Given the description of an element on the screen output the (x, y) to click on. 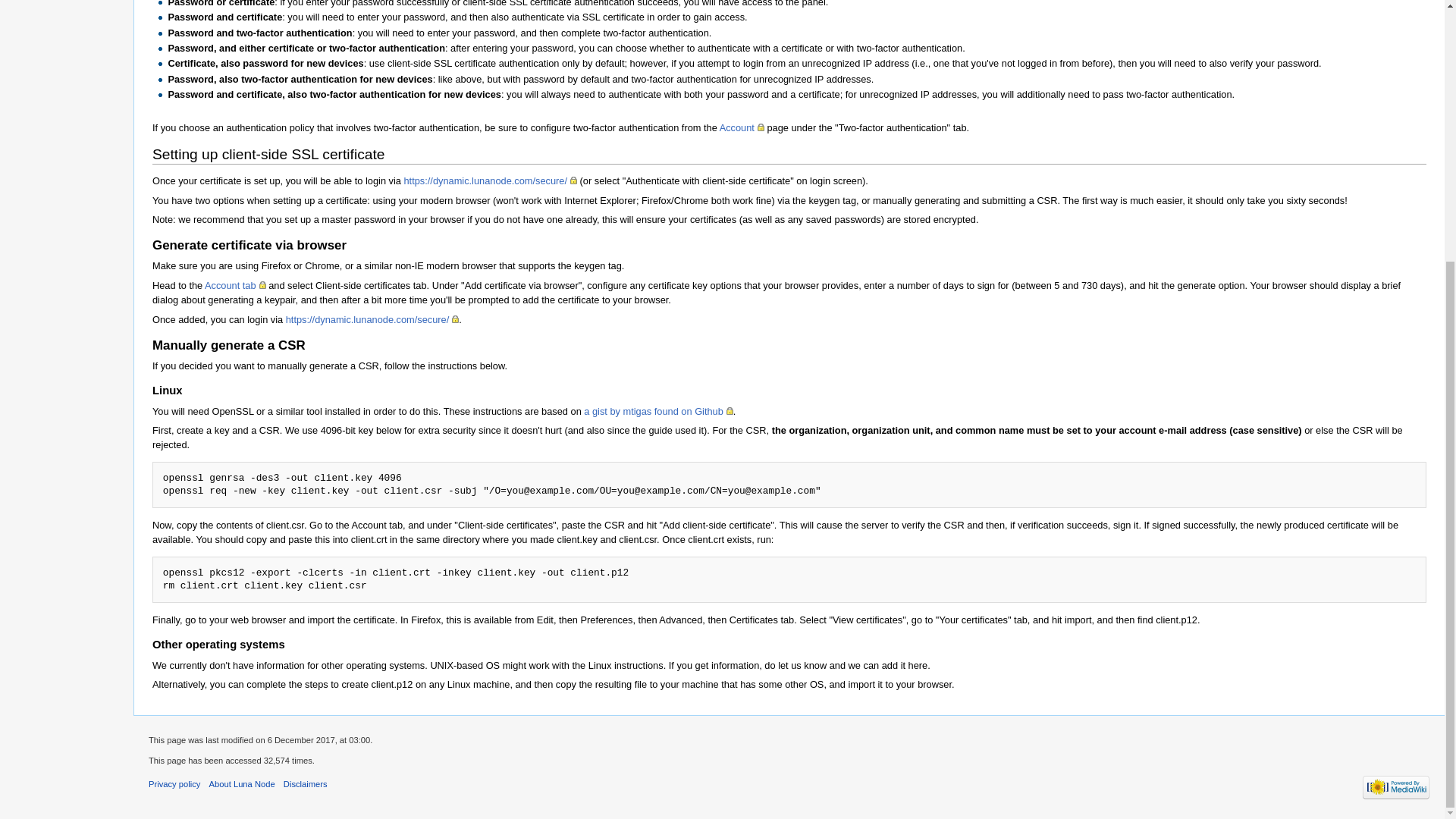
a gist by mtigas found on Github (658, 410)
Account (741, 127)
Account tab (235, 285)
